Given the description of an element on the screen output the (x, y) to click on. 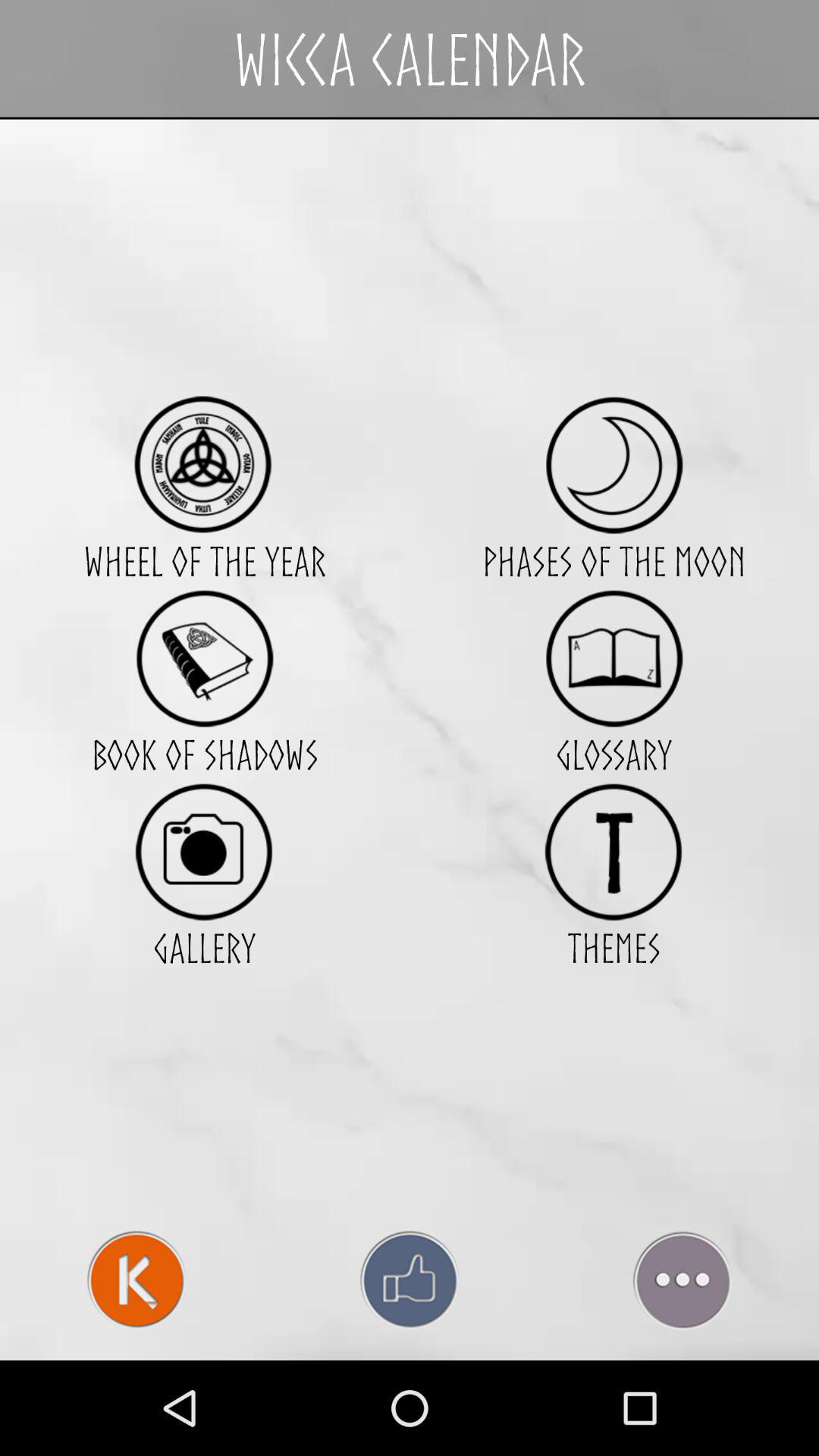
view glossary (613, 658)
